Given the description of an element on the screen output the (x, y) to click on. 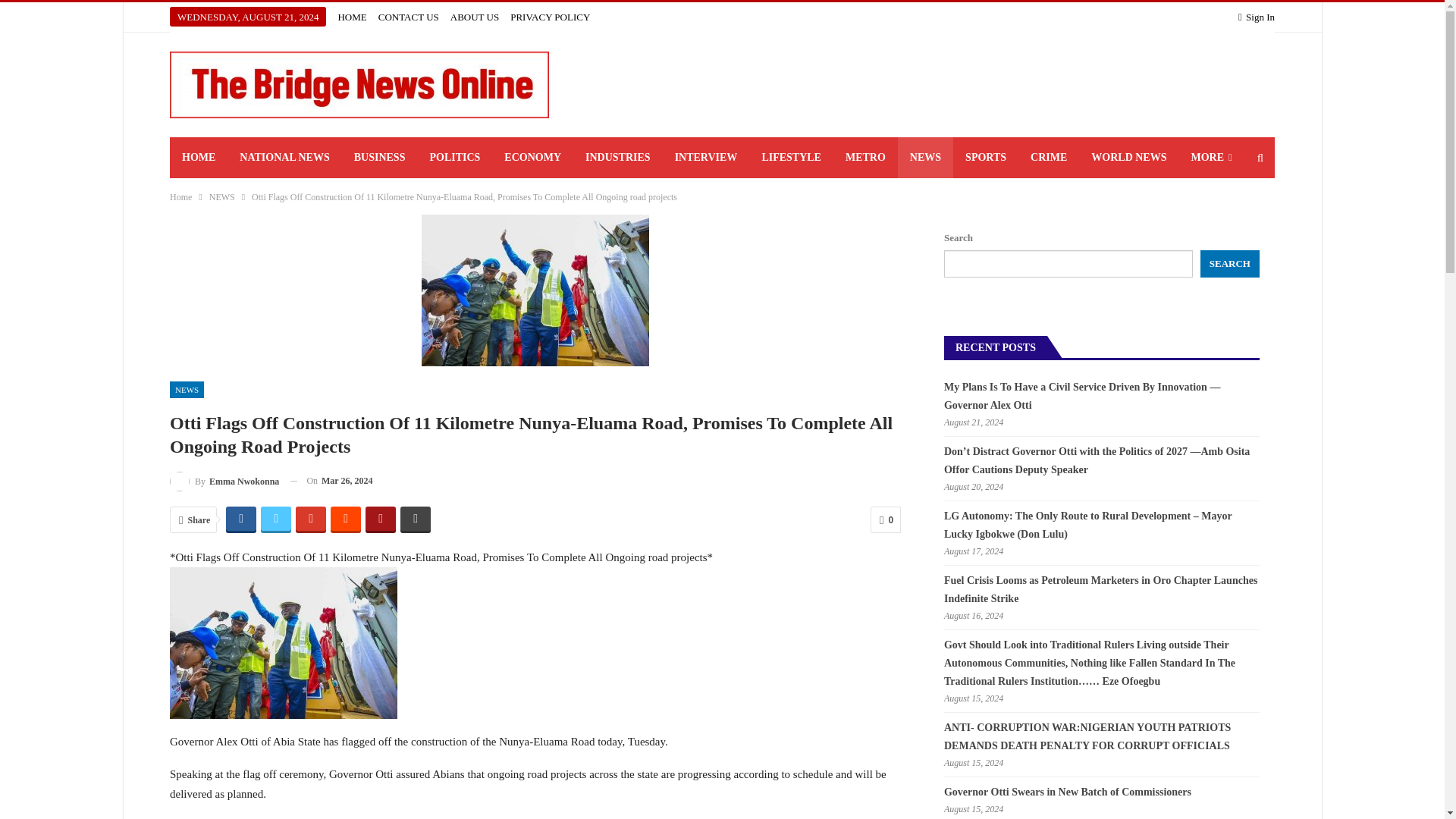
LIFESTYLE (790, 157)
INDUSTRIES (617, 157)
Home (181, 197)
0 (885, 519)
WORLD NEWS (1127, 157)
NEWS (925, 157)
Browse Author Articles (224, 480)
NATIONAL NEWS (283, 157)
NEWS (186, 389)
CONTACT US (408, 16)
